Given the description of an element on the screen output the (x, y) to click on. 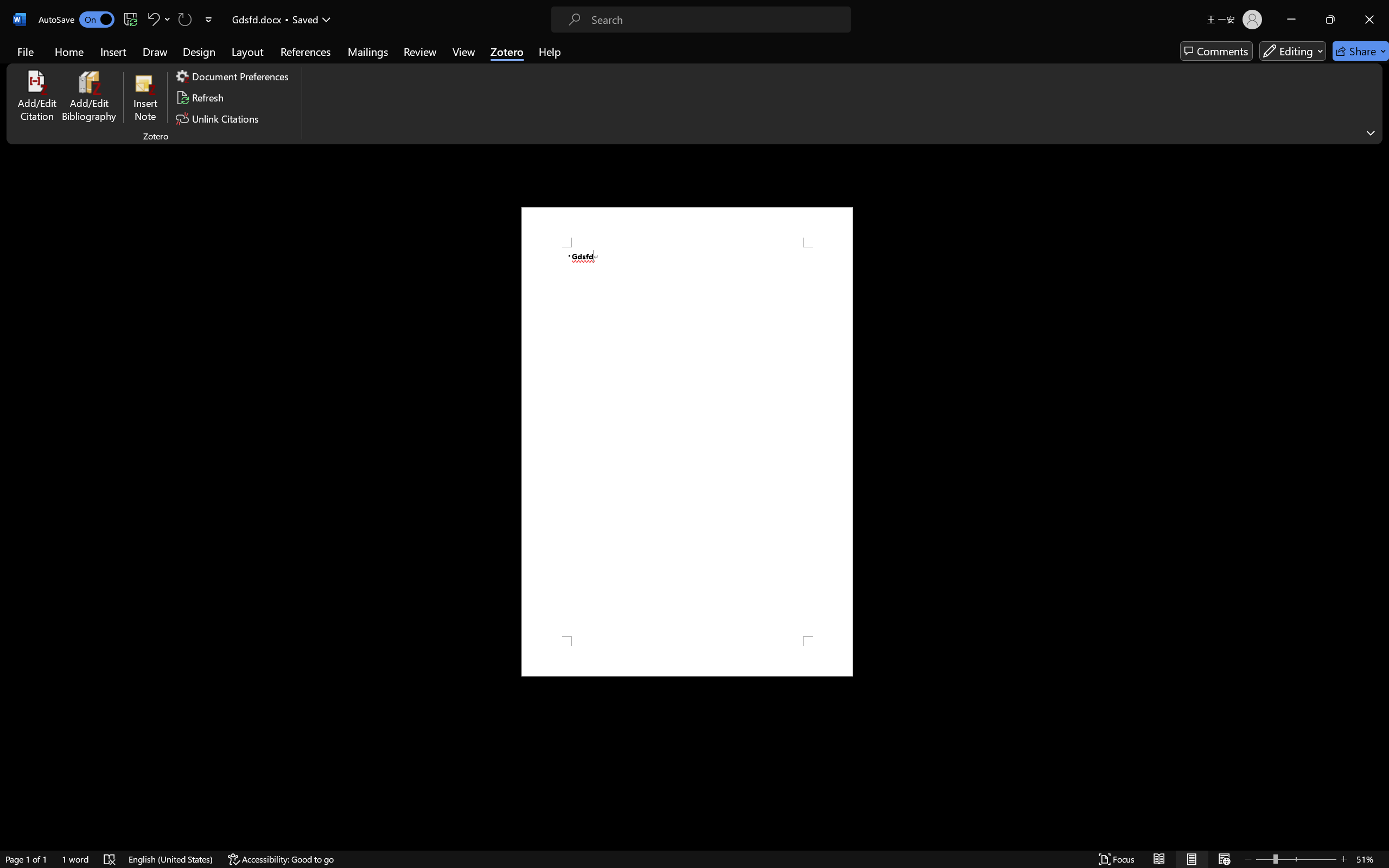
Page 1 content (686, 441)
